Given the description of an element on the screen output the (x, y) to click on. 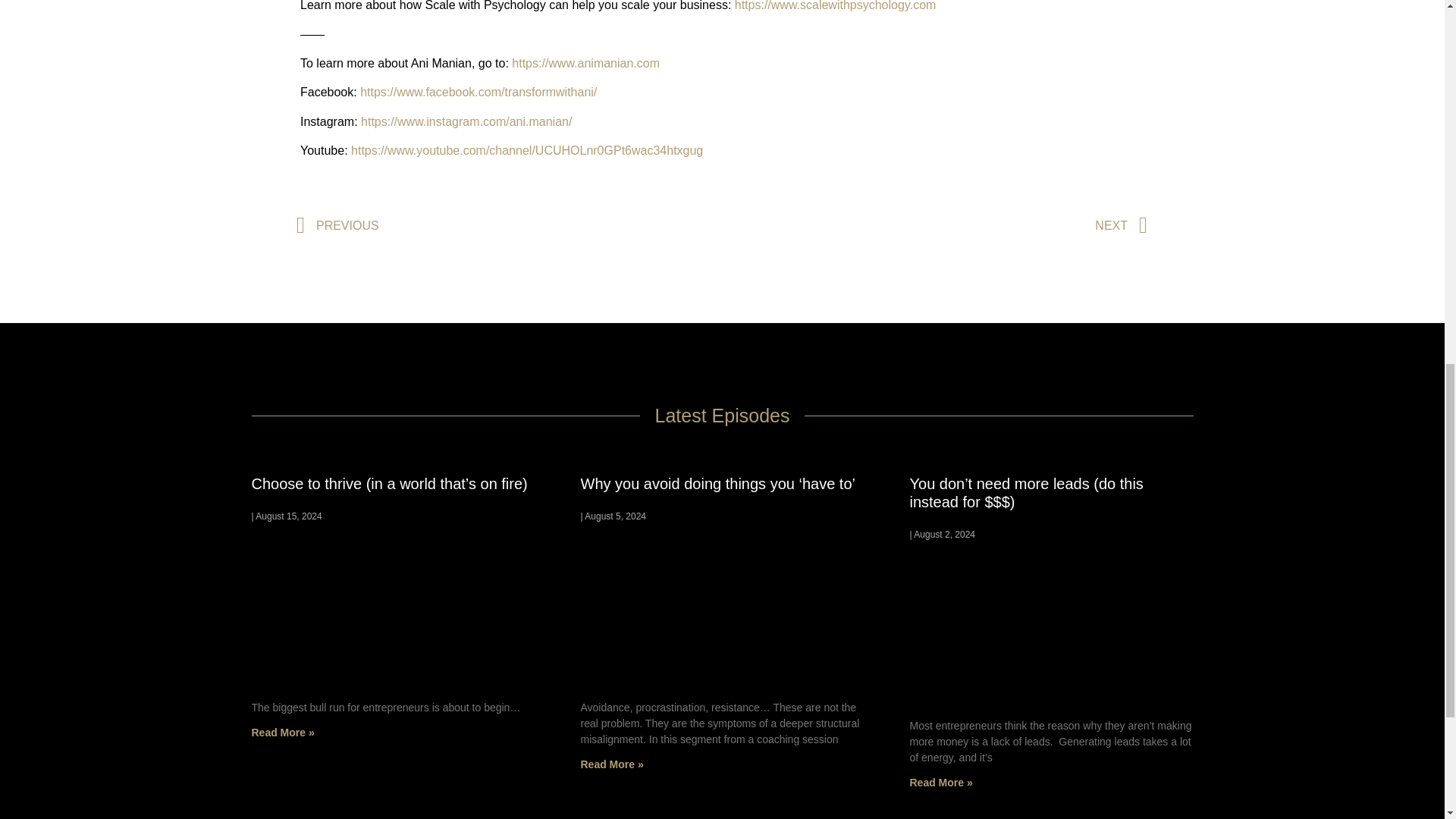
NEXT (934, 225)
www.animanian.com (603, 62)
PREVIOUS (509, 225)
